Given the description of an element on the screen output the (x, y) to click on. 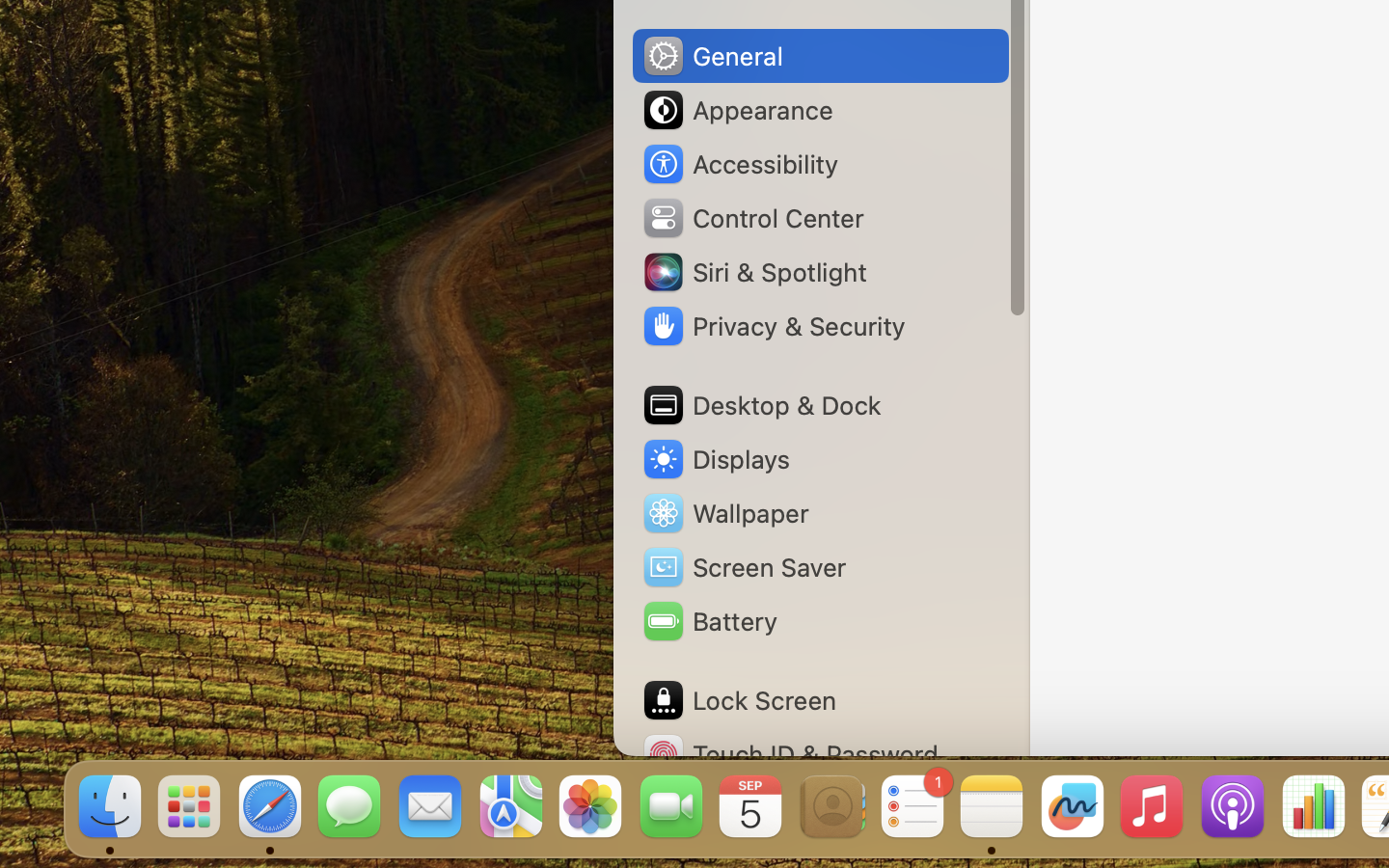
Screen Saver Element type: AXStaticText (743, 566)
Touch ID & Password Element type: AXStaticText (789, 754)
Siri & Spotlight Element type: AXStaticText (753, 271)
